Given the description of an element on the screen output the (x, y) to click on. 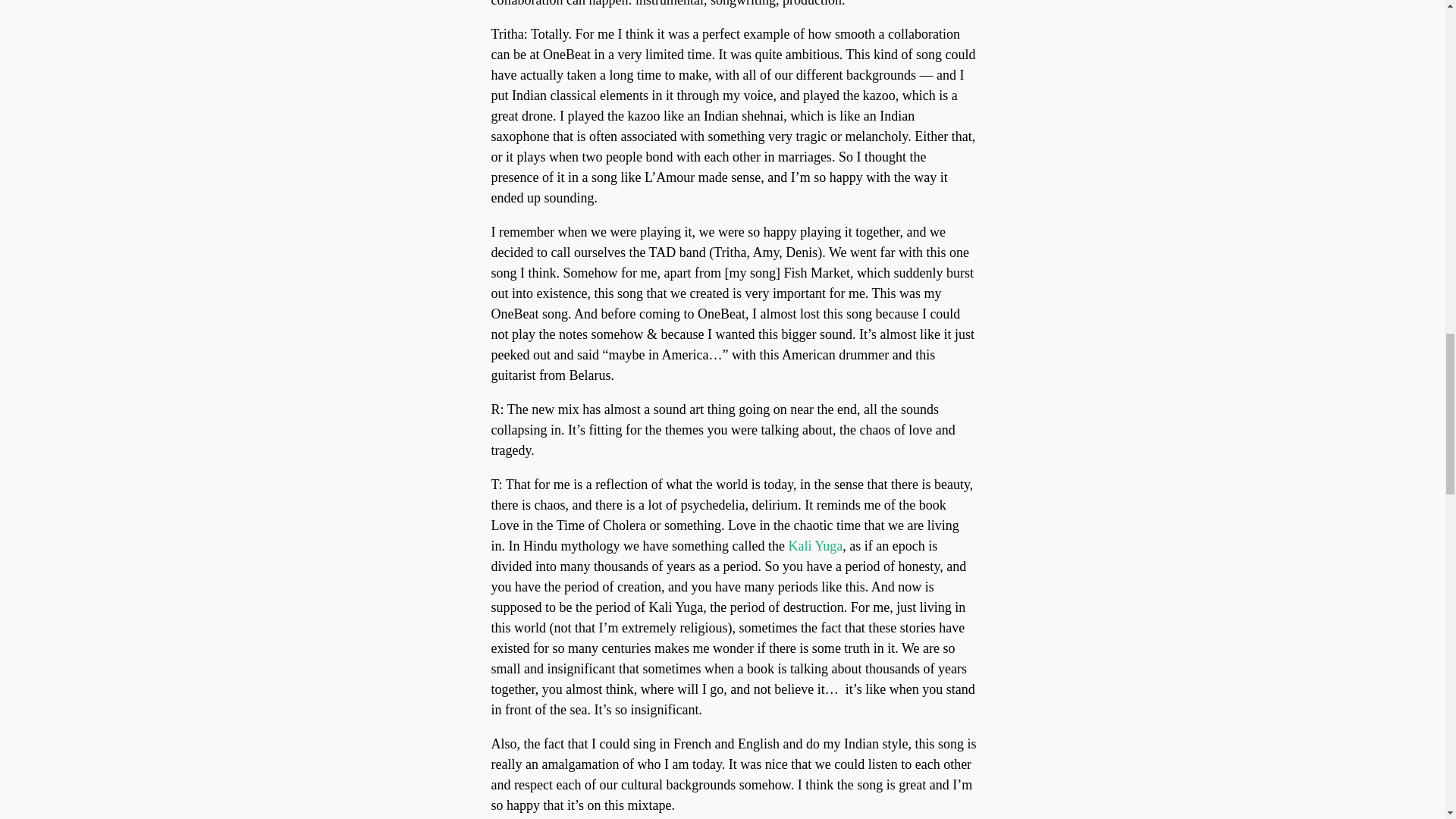
Kali Yuga (815, 545)
